Given the description of an element on the screen output the (x, y) to click on. 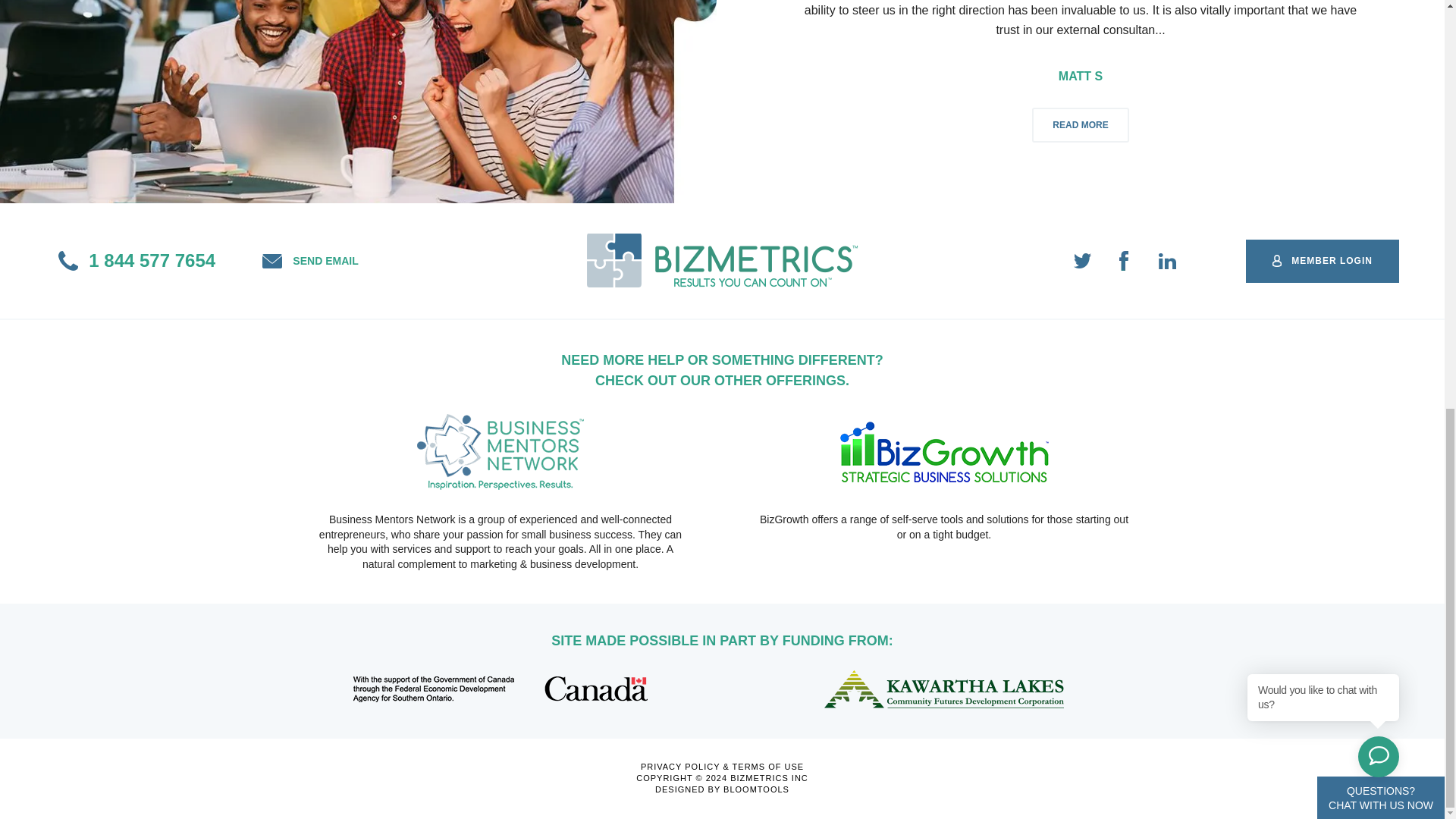
Linked In (1167, 260)
Call Us (136, 260)
Send email (310, 260)
Read more (1080, 124)
Twitter (1083, 260)
BizMentors (499, 450)
Member Login (1322, 260)
BizMetrics (722, 259)
BizGrowth (944, 450)
facebook (1125, 260)
